Given the description of an element on the screen output the (x, y) to click on. 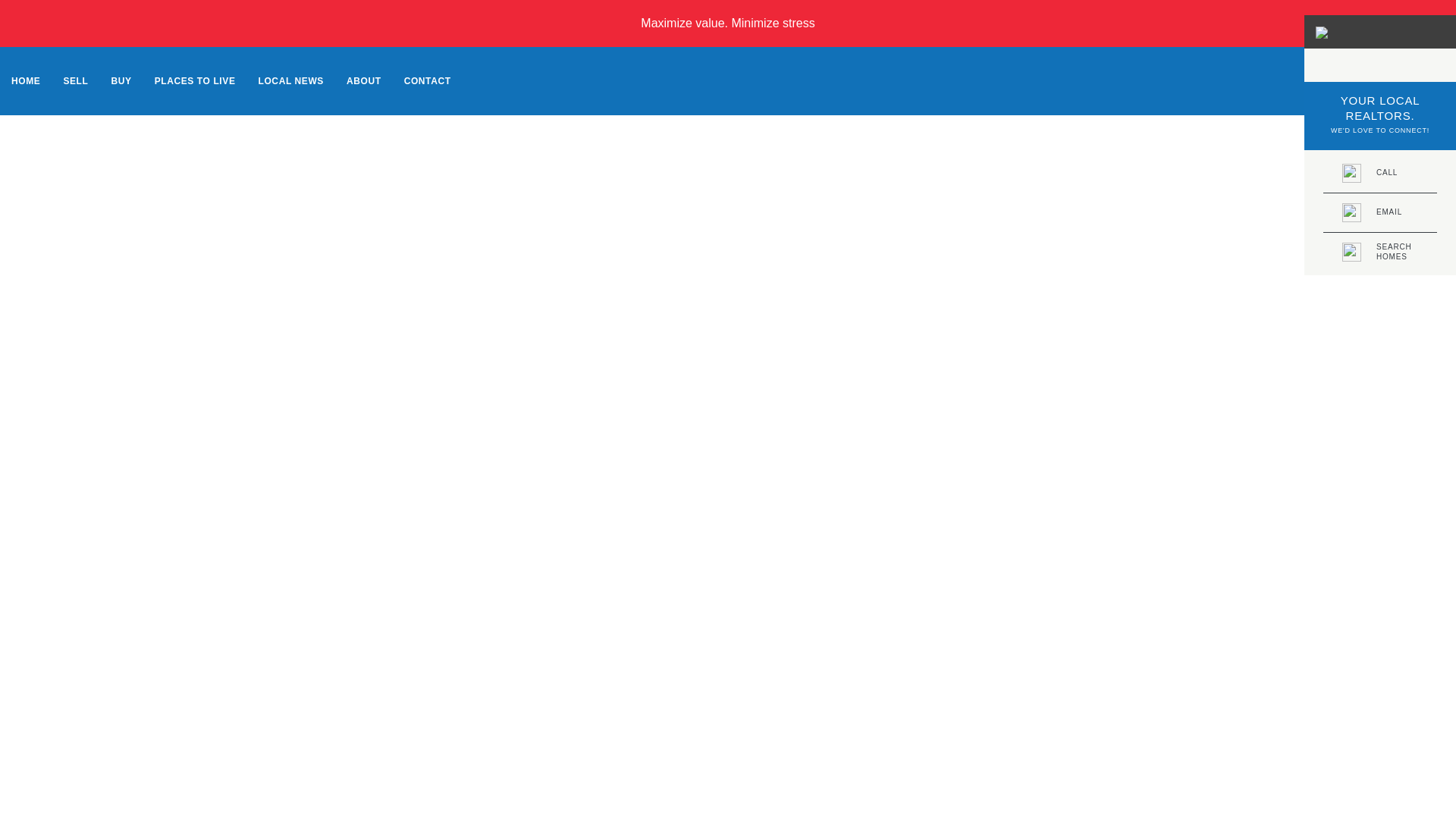
LOCAL NEWS (290, 80)
CONTACT (428, 80)
EMAIL (1380, 212)
CALL (1380, 251)
PLACES TO LIVE (1380, 173)
Maximize value. Minimize stress (194, 80)
